Given the description of an element on the screen output the (x, y) to click on. 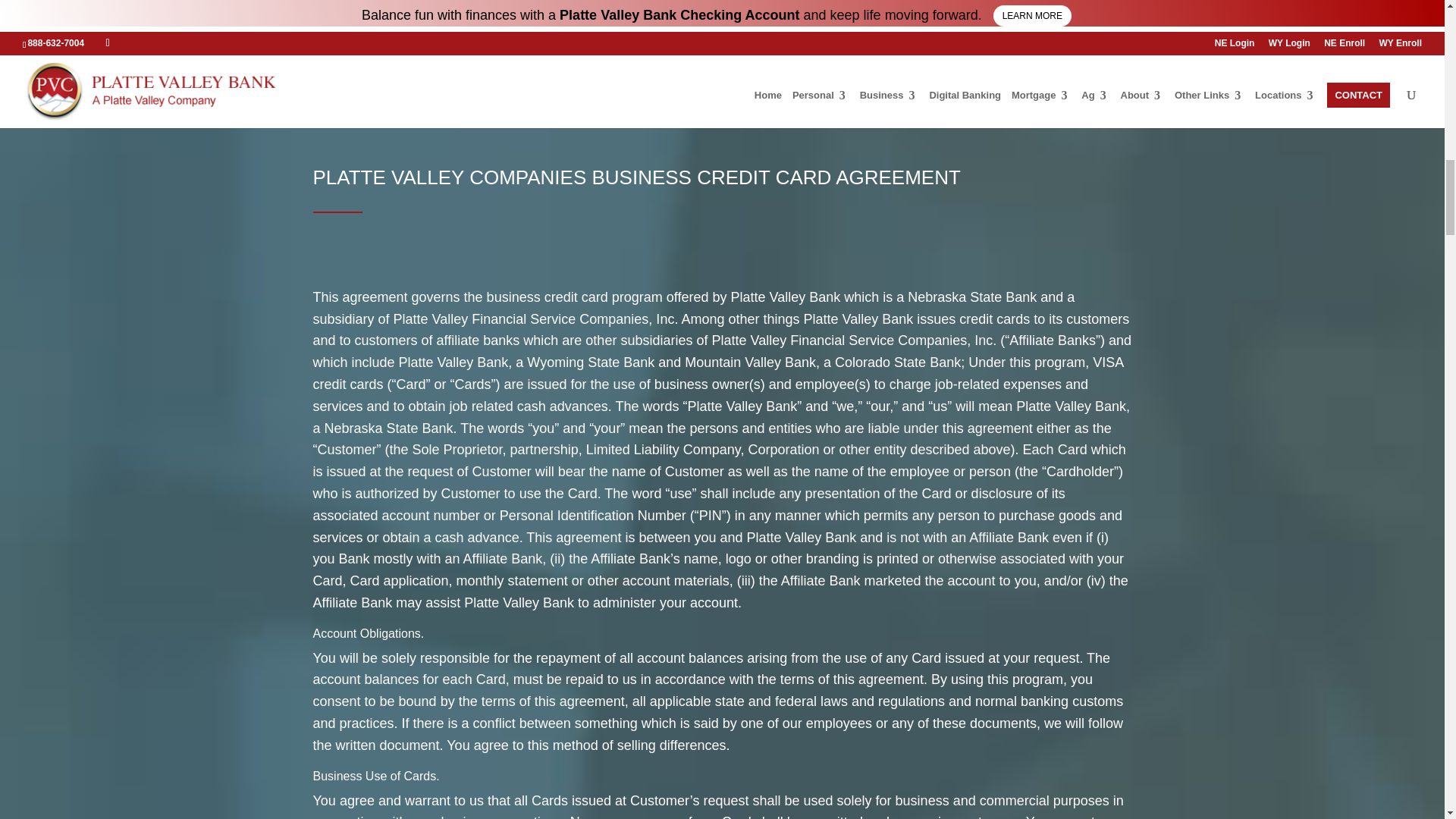
Next (1101, 12)
